Given the description of an element on the screen output the (x, y) to click on. 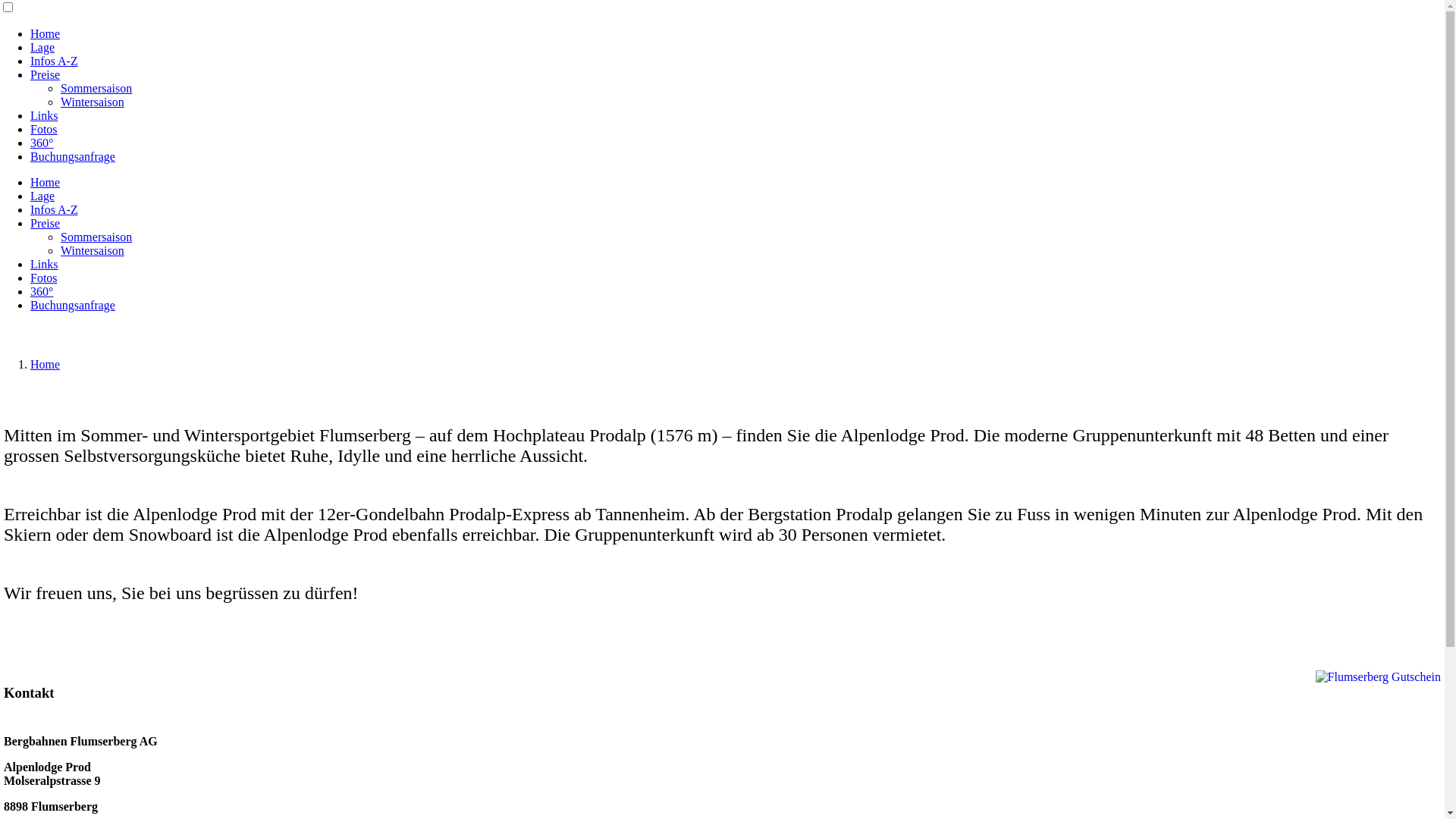
Buchungsanfrage Element type: text (72, 304)
Home Element type: text (44, 33)
Wintersaison Element type: text (92, 250)
Lage Element type: text (42, 195)
Infos A-Z Element type: text (54, 209)
Links Element type: text (43, 115)
Fotos Element type: text (43, 277)
Preise Element type: text (44, 74)
Sommersaison Element type: text (95, 87)
Fotos Element type: text (43, 128)
Lage Element type: text (42, 46)
Infos A-Z Element type: text (54, 60)
Wintersaison Element type: text (92, 101)
Home Element type: text (44, 181)
Buchungsanfrage Element type: text (72, 156)
Home Element type: text (44, 363)
Sommersaison Element type: text (95, 236)
Links Element type: text (43, 263)
Preise Element type: text (44, 222)
